Given the description of an element on the screen output the (x, y) to click on. 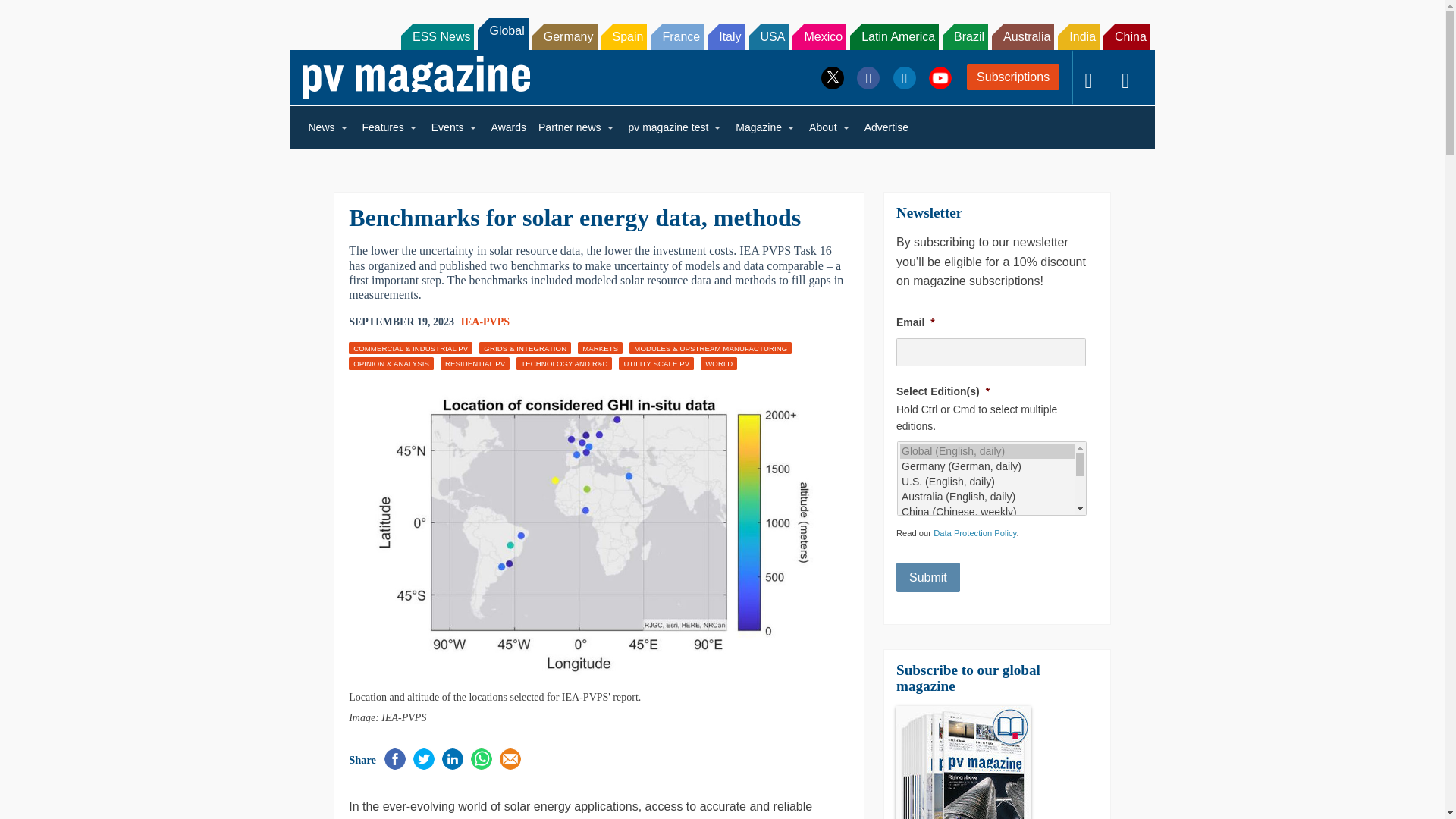
Subscriptions (1012, 77)
Search (32, 15)
Submit (927, 577)
pv magazine - Photovoltaics Markets and Technology (415, 77)
France (676, 36)
China (1126, 36)
Italy (725, 36)
India (1078, 36)
Tuesday, September 19, 2023, 1:44 pm (401, 321)
Australia (1022, 36)
